Given the description of an element on the screen output the (x, y) to click on. 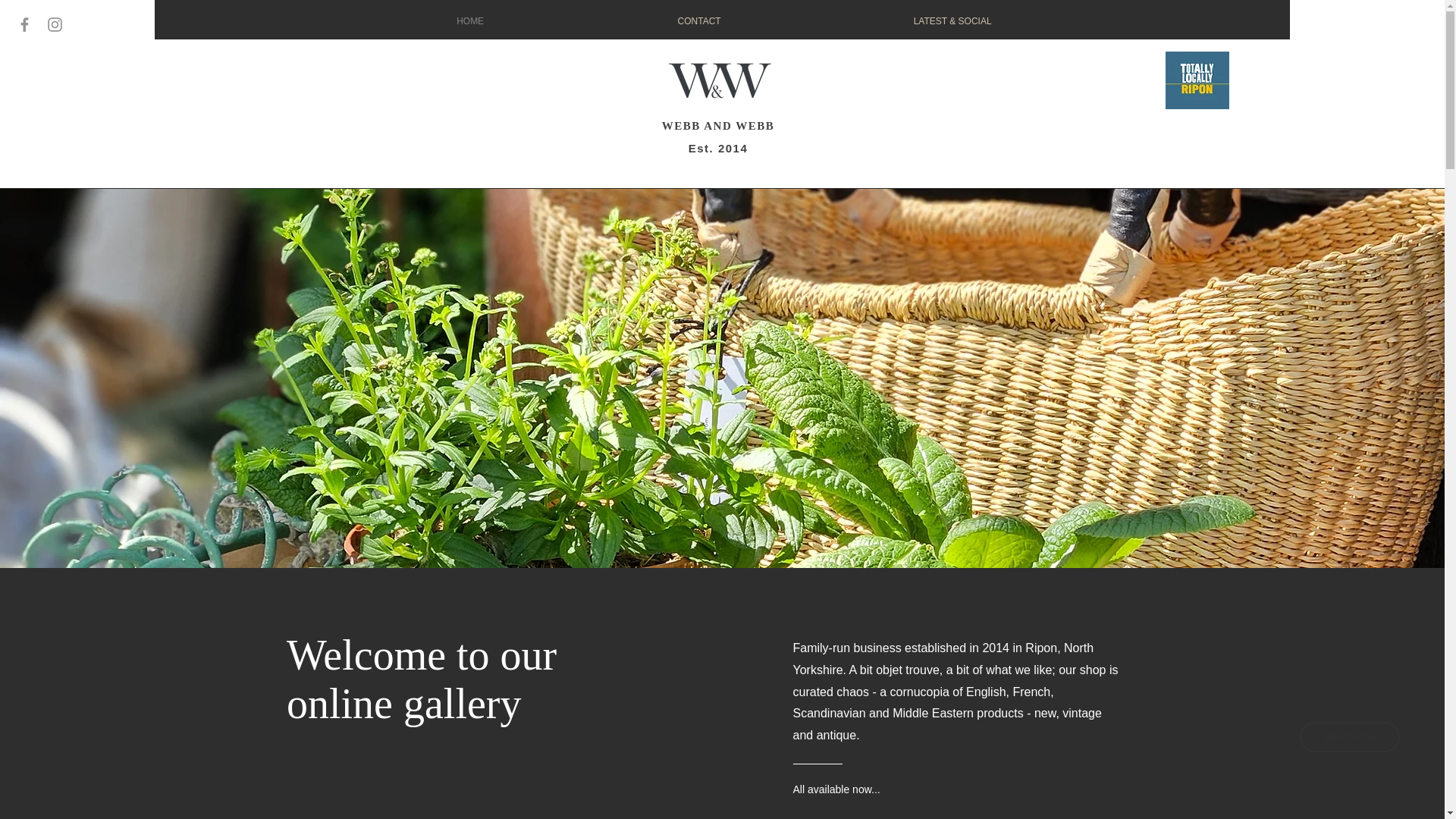
HOME (469, 21)
Support your local businesses (1196, 79)
CONTACT (698, 21)
All available now... (852, 789)
Back to Top (1349, 736)
